Given the description of an element on the screen output the (x, y) to click on. 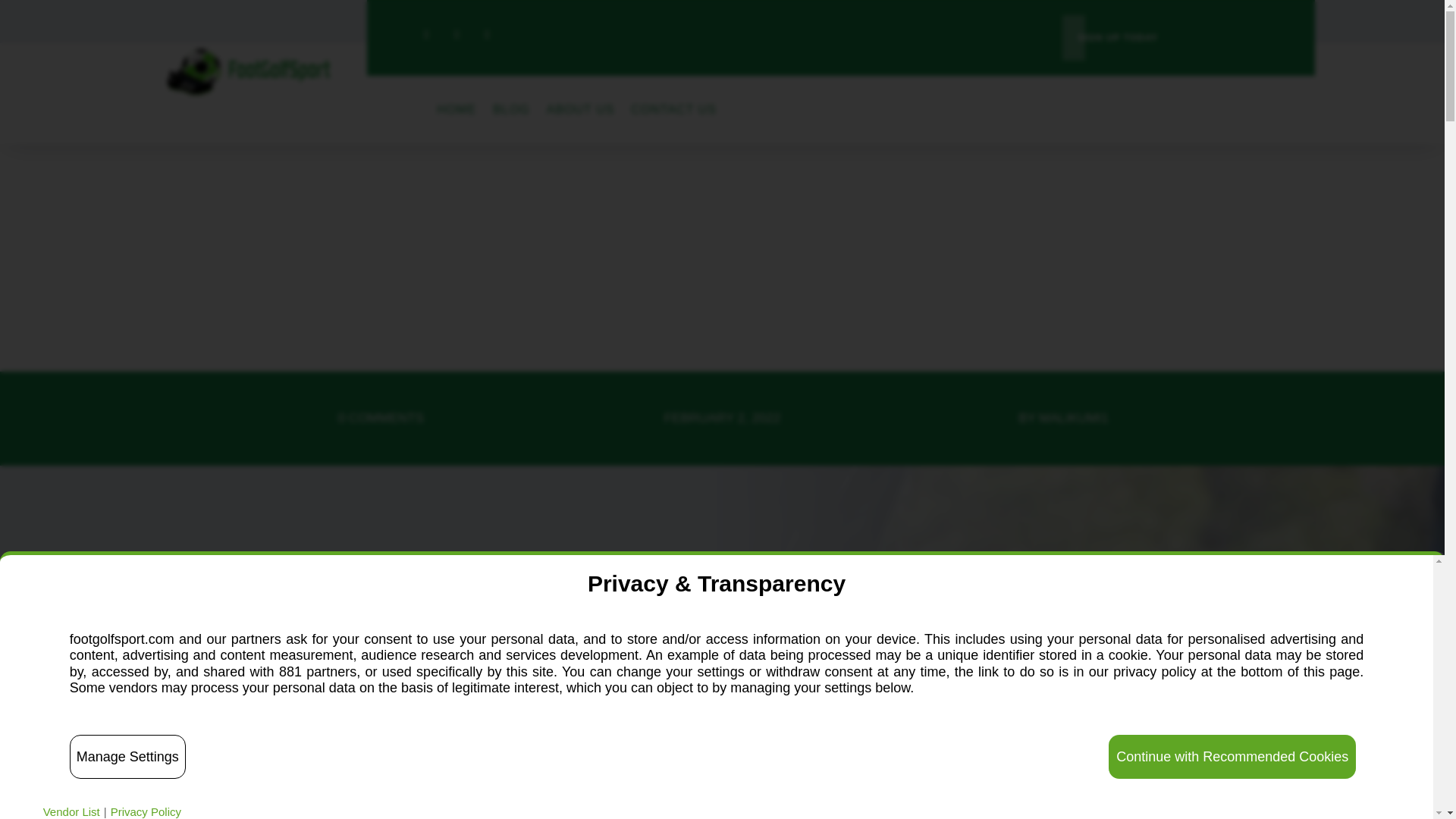
0 COMMENTS (380, 418)
CONTACT US (673, 112)
BLOG (511, 112)
Follow on X (456, 34)
ABOUT US (580, 112)
Follow on Instagram (486, 34)
GOLF COURSE (431, 594)
Follow on Facebook (425, 34)
SIGN UP TODAY (1117, 37)
onlinelogomaker-111921-1619-4585-2000-transparent (248, 71)
HOME (456, 112)
FOOTGOLF (345, 594)
